Given the description of an element on the screen output the (x, y) to click on. 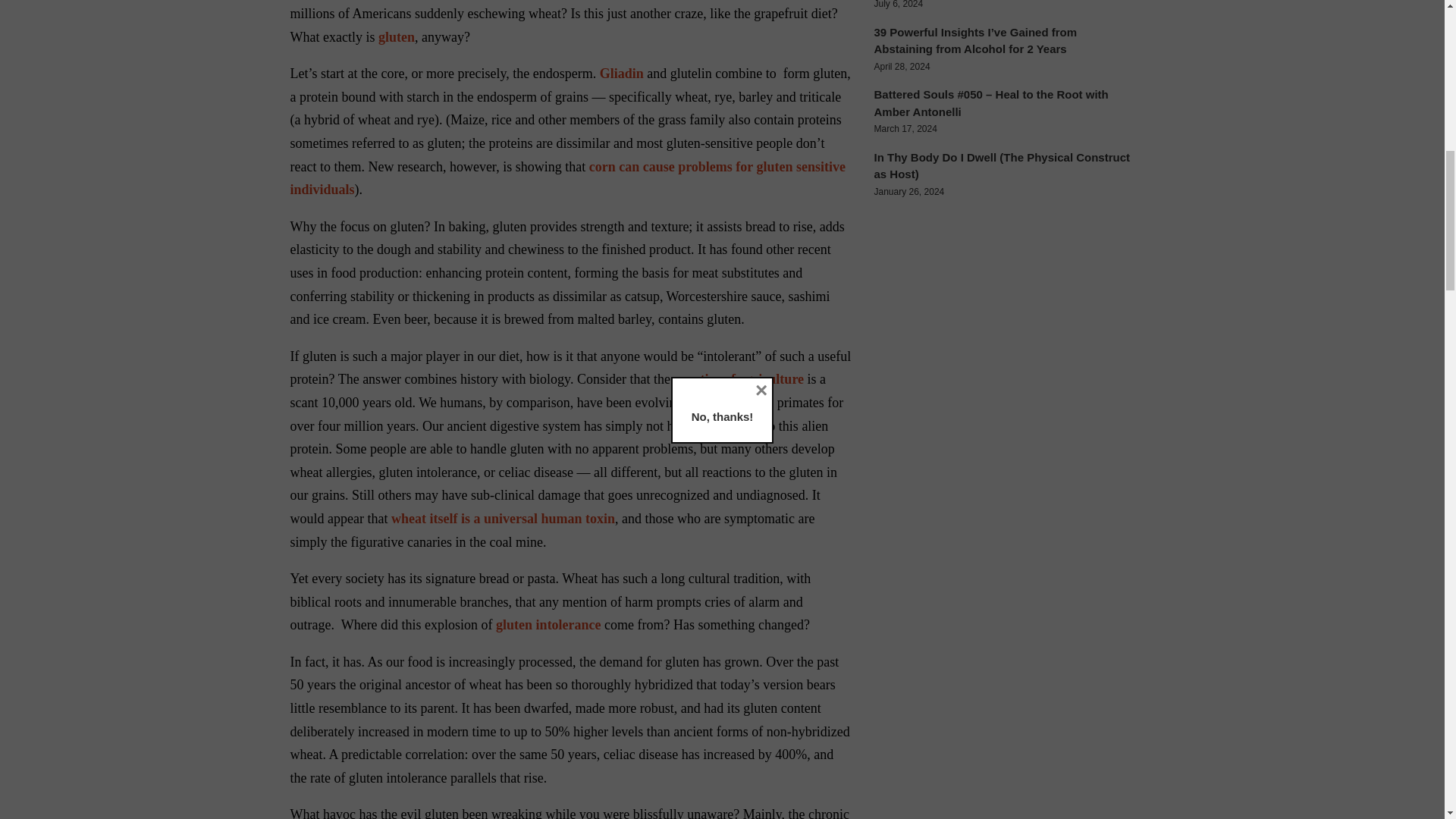
gluten (396, 37)
practice of agriculture (737, 378)
corn can cause problems for gluten sensitive individuals (566, 178)
Gliadin (621, 73)
gluten intolerance (547, 624)
wheat itself is a universal human toxin (502, 518)
